Given the description of an element on the screen output the (x, y) to click on. 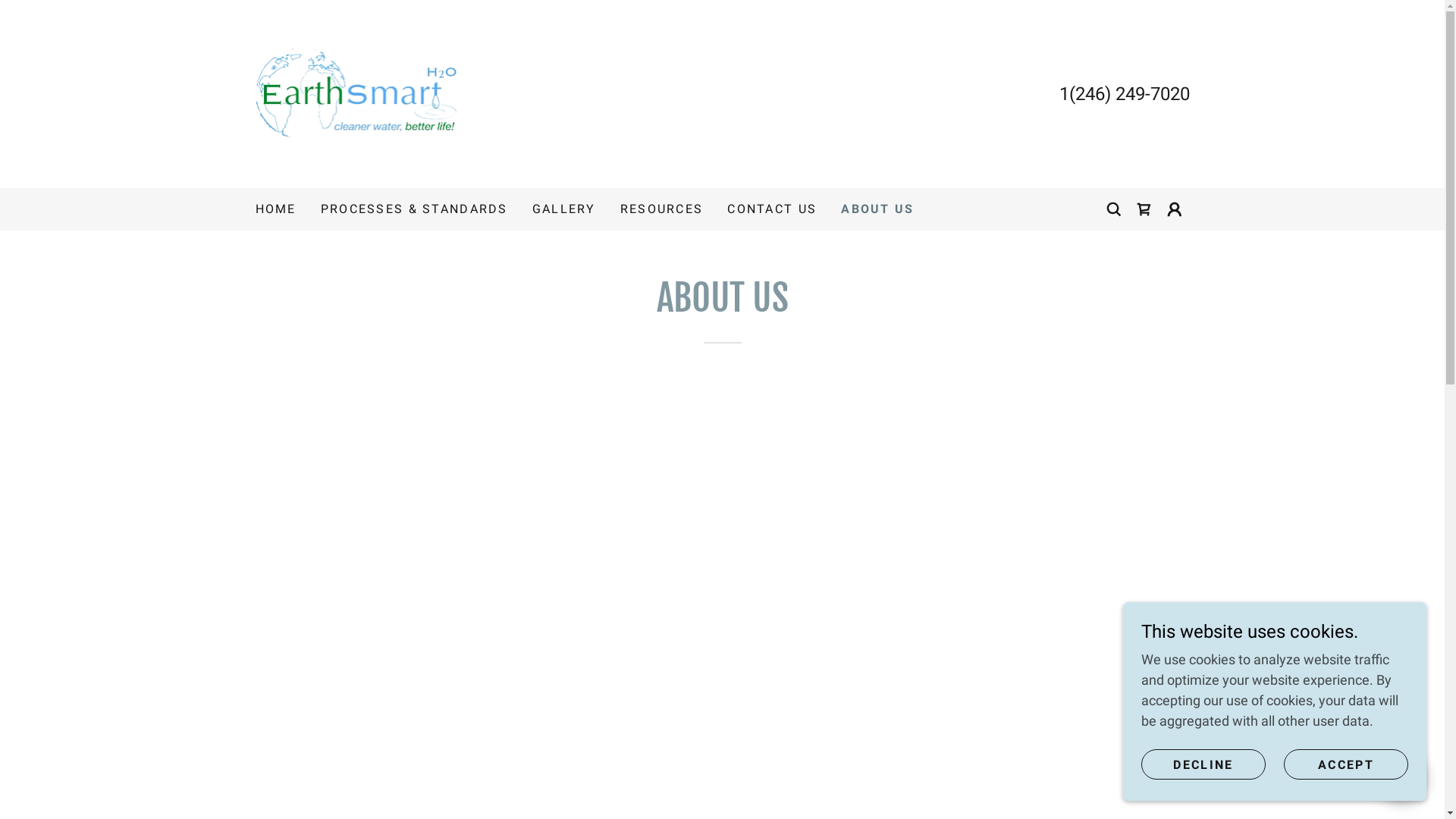
RESOURCES Element type: text (661, 208)
DECLINE Element type: text (1203, 764)
1(246) 249-7020 Element type: text (1123, 93)
CONTACT US Element type: text (771, 208)
PROCESSES & STANDARDS Element type: text (414, 208)
GALLERY Element type: text (563, 208)
Earth Smart Element type: hover (355, 92)
HOME Element type: text (275, 208)
ABOUT US Element type: text (876, 209)
ACCEPT Element type: text (1345, 764)
